Given the description of an element on the screen output the (x, y) to click on. 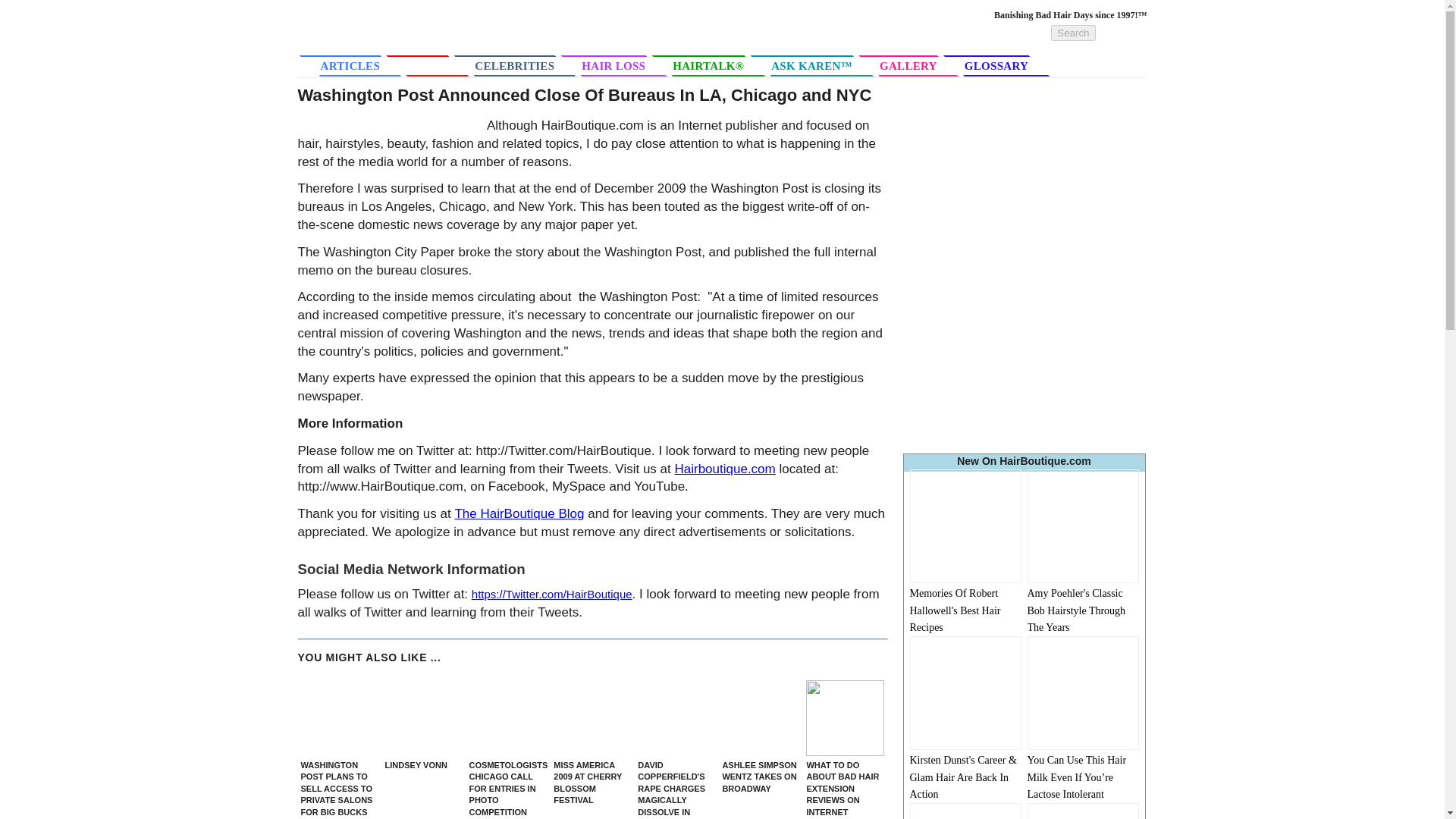
GLOSSARY (1005, 65)
Click to go to the home page. (406, 40)
HAIR LOSS (622, 65)
Maren Morris' W Curtain Bangs (1082, 812)
HairBoutique Blog (518, 513)
CELEBRITIES (523, 65)
Maggie Rogers' Rockin Hairstyle (966, 812)
The HairBoutique Blog (518, 513)
HairBoutique on Twitter (724, 468)
ARTICLES (350, 65)
BLOGS (436, 65)
Search (1072, 32)
GALLERY (917, 65)
Hairboutique.com (724, 468)
